Given the description of an element on the screen output the (x, y) to click on. 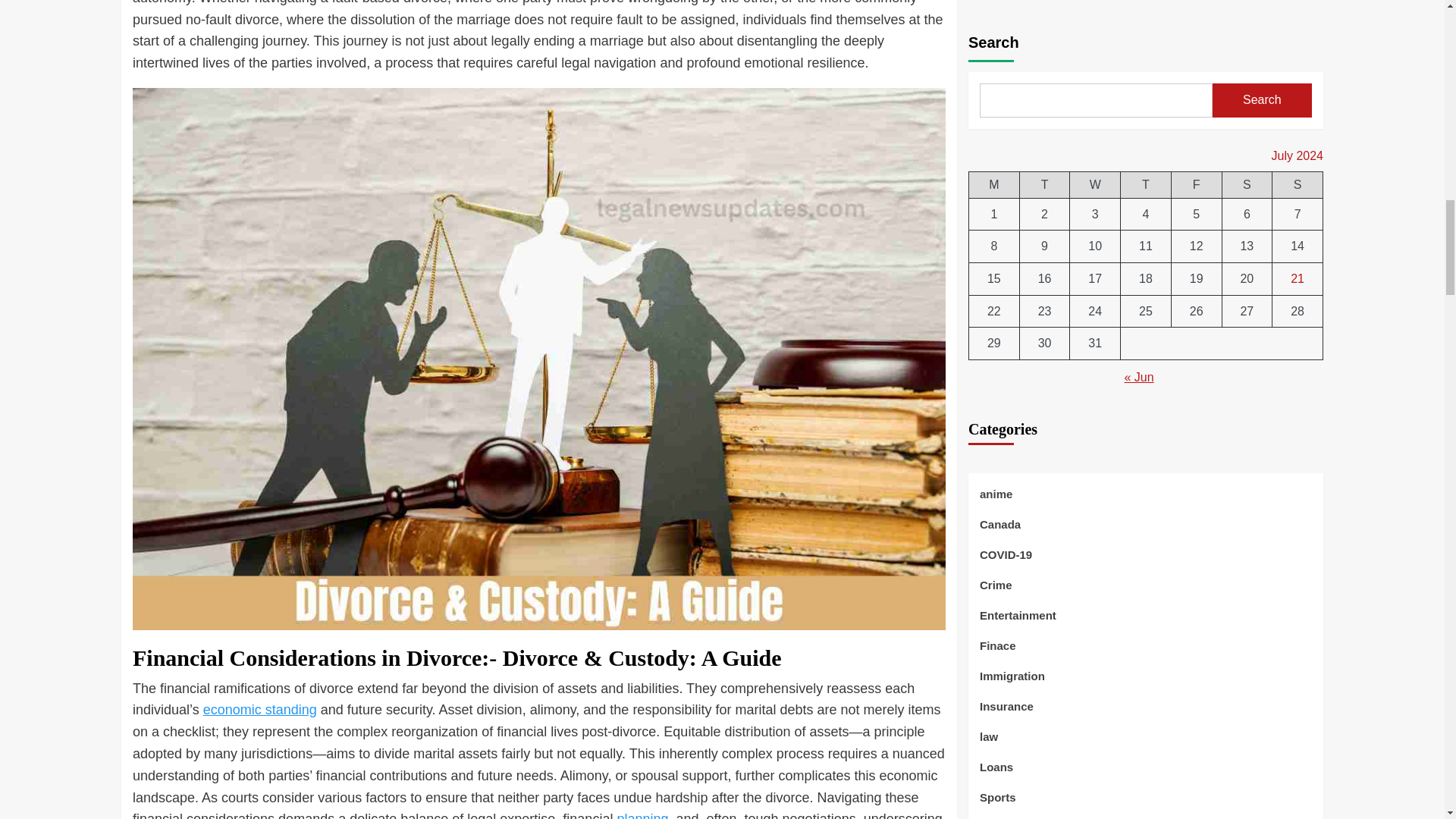
economic standing (260, 709)
planning (641, 815)
